Given the description of an element on the screen output the (x, y) to click on. 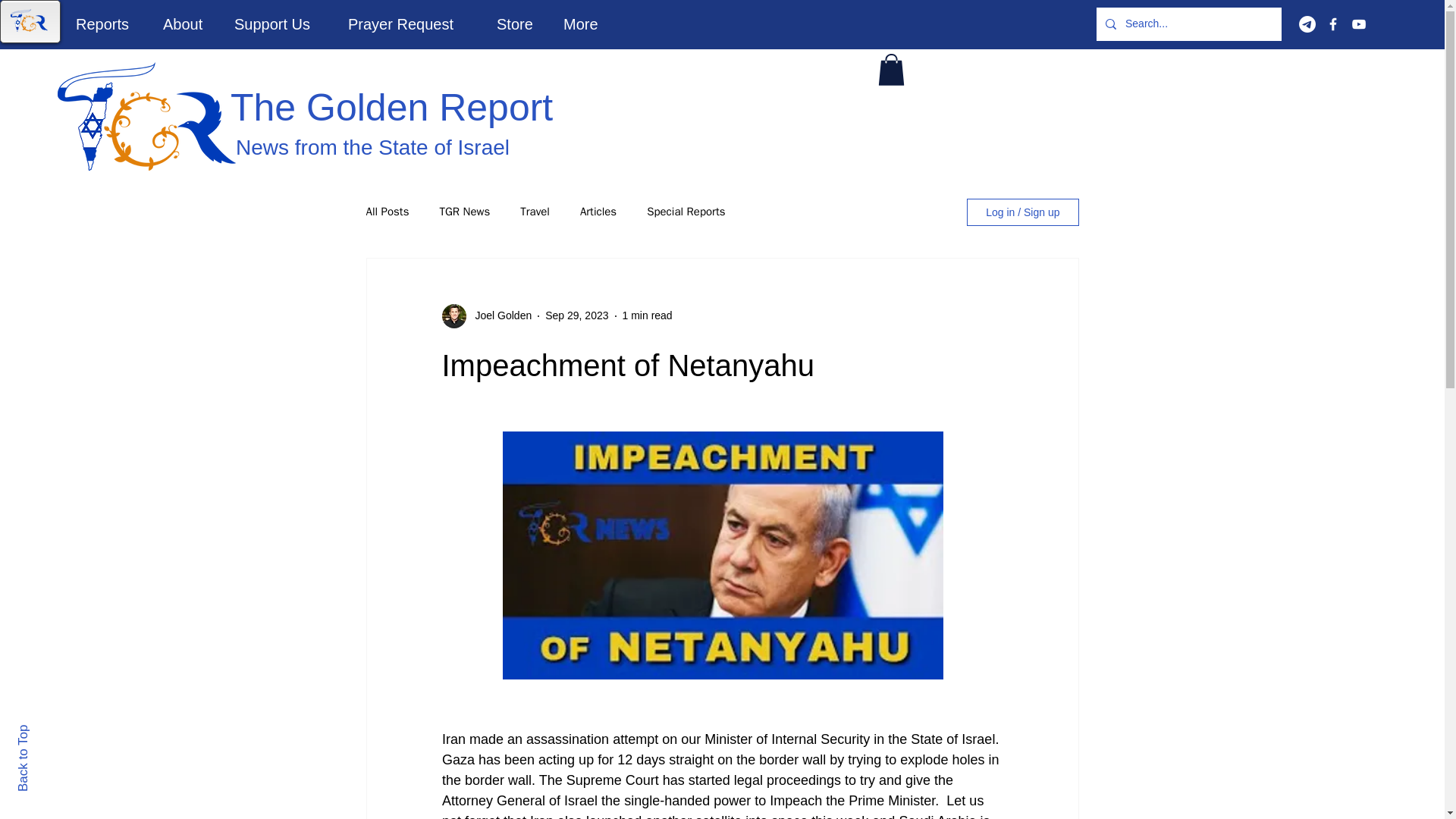
1 min read (647, 315)
Sep 29, 2023 (576, 315)
TGR News (464, 211)
Prayer Request (410, 24)
Back to Top (49, 730)
Reports (107, 24)
Joel Golden (498, 315)
Store (517, 24)
Support Us (279, 24)
Articles (597, 211)
